Given the description of an element on the screen output the (x, y) to click on. 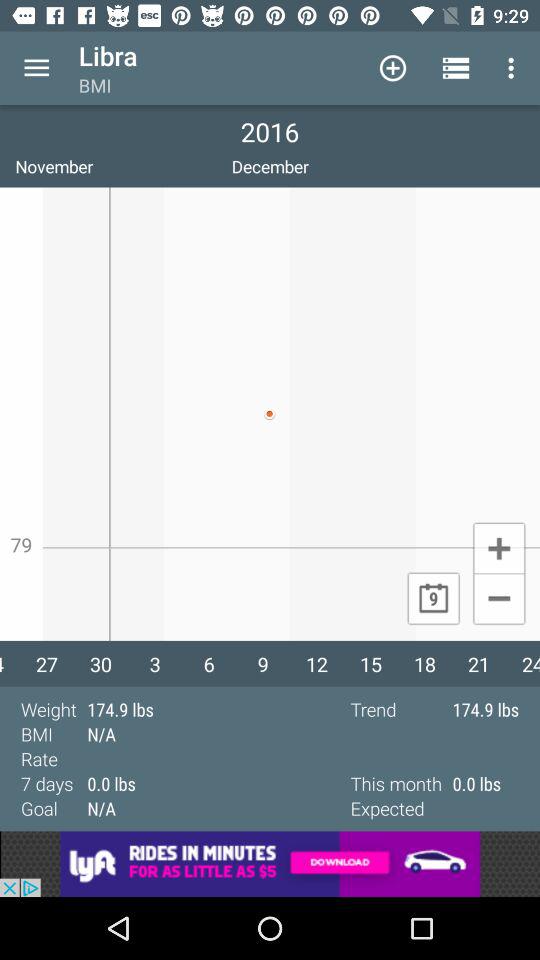
menu options (36, 68)
